Given the description of an element on the screen output the (x, y) to click on. 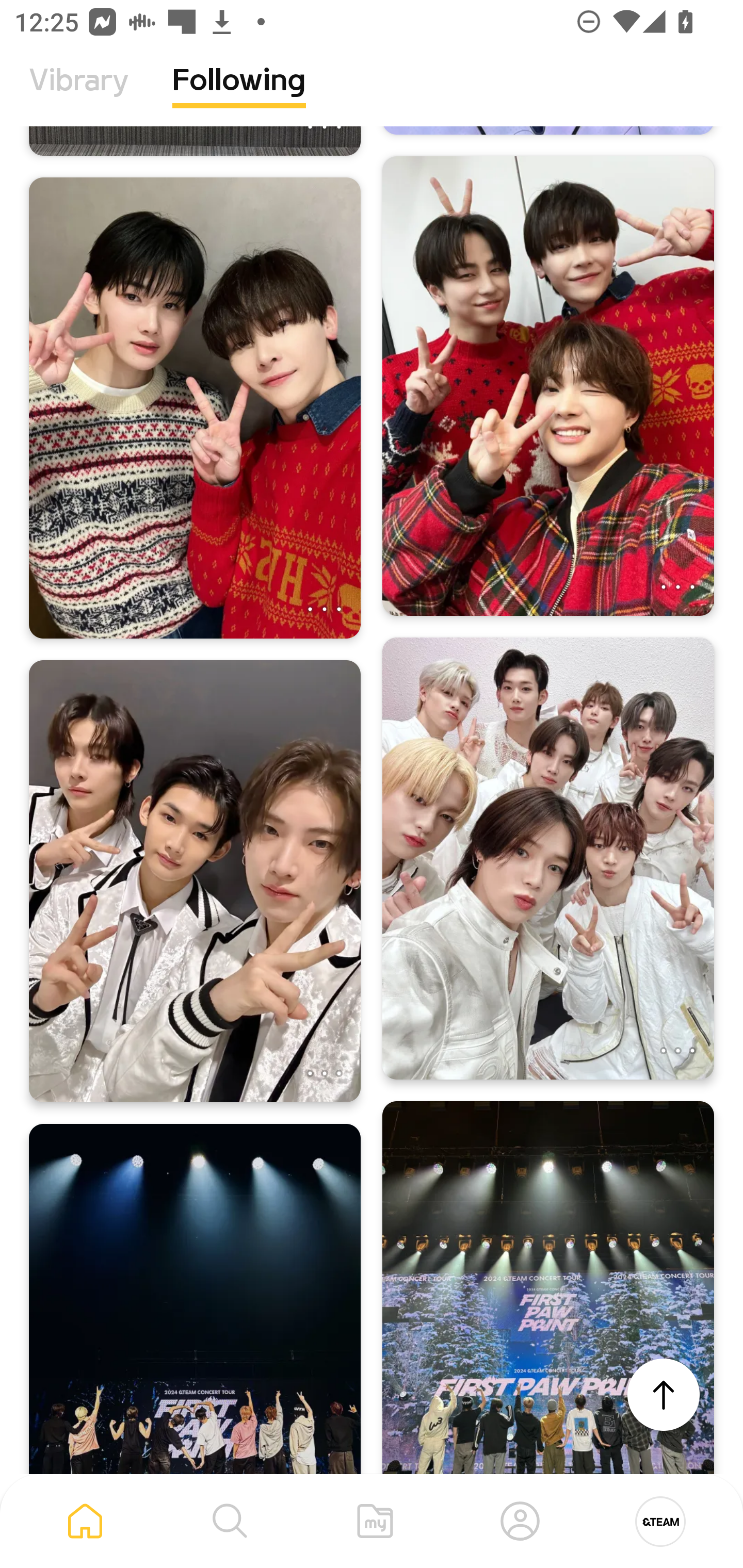
Vibrary (78, 95)
Following (239, 95)
